Given the description of an element on the screen output the (x, y) to click on. 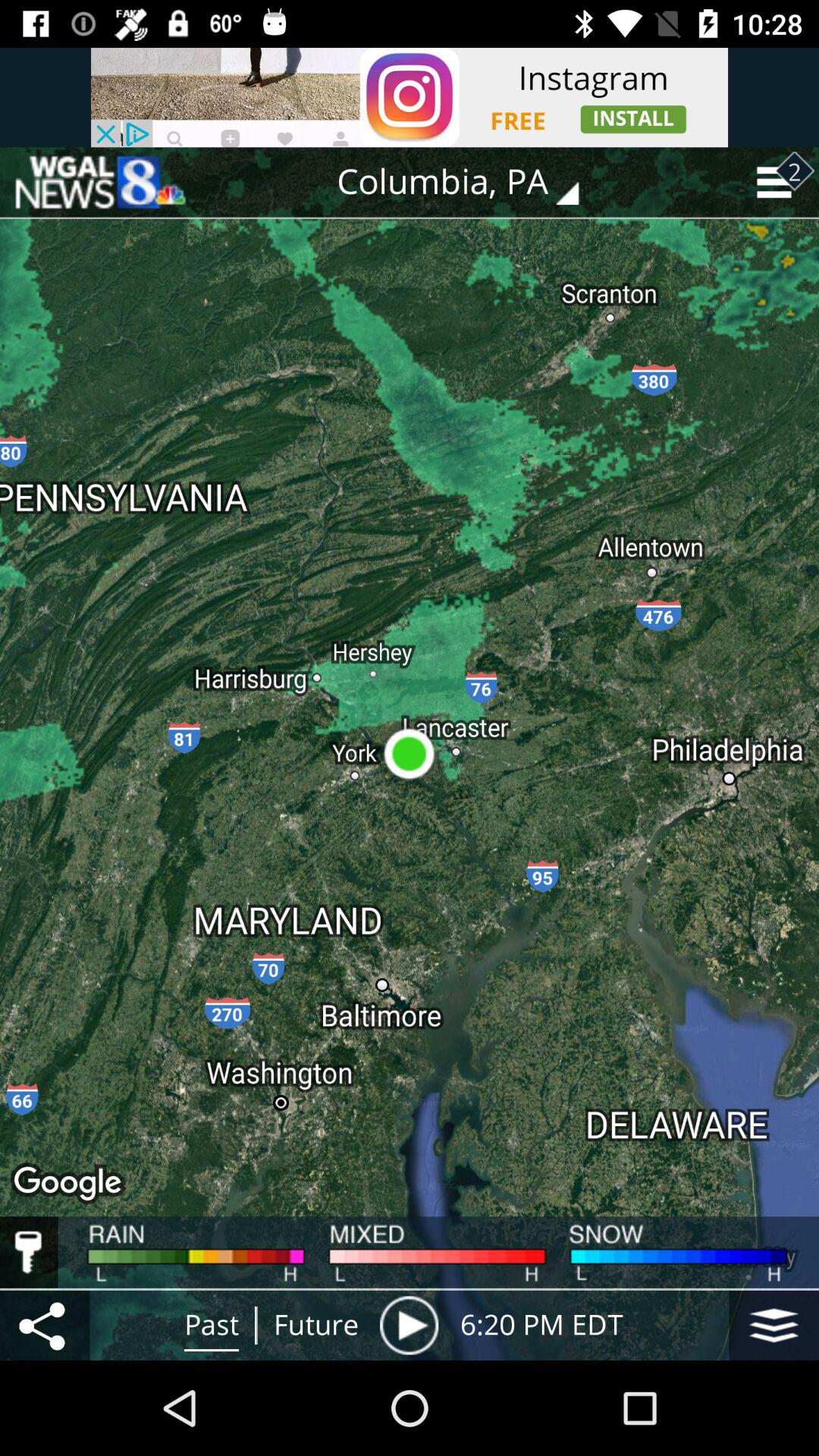
play the video (409, 1325)
